Given the description of an element on the screen output the (x, y) to click on. 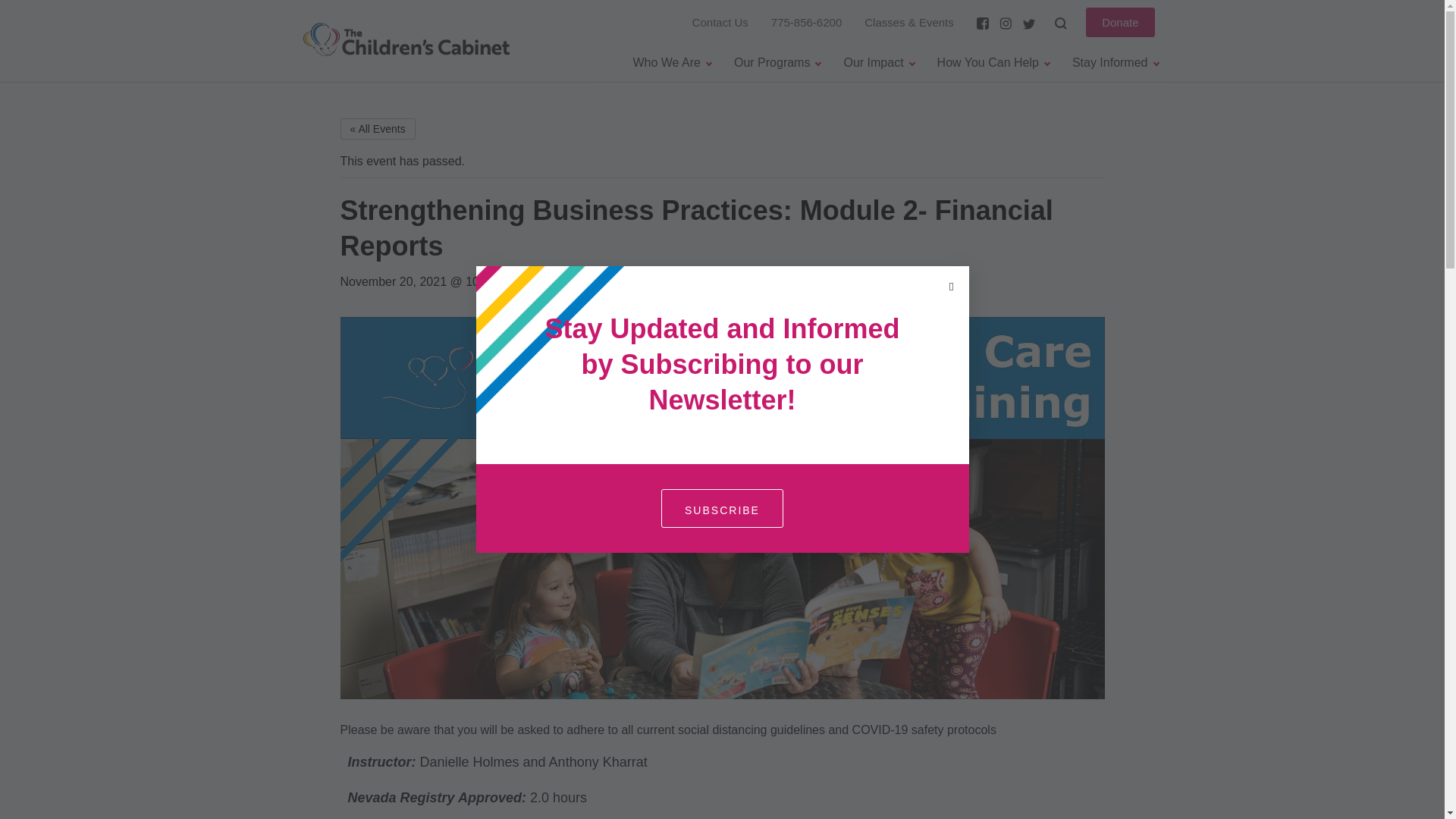
Our Programs (776, 63)
Our Impact (877, 63)
Donate (1120, 21)
Contact Us (720, 21)
775-856-6200 (806, 21)
How You Can Help (993, 63)
Who We Are (671, 63)
